Given the description of an element on the screen output the (x, y) to click on. 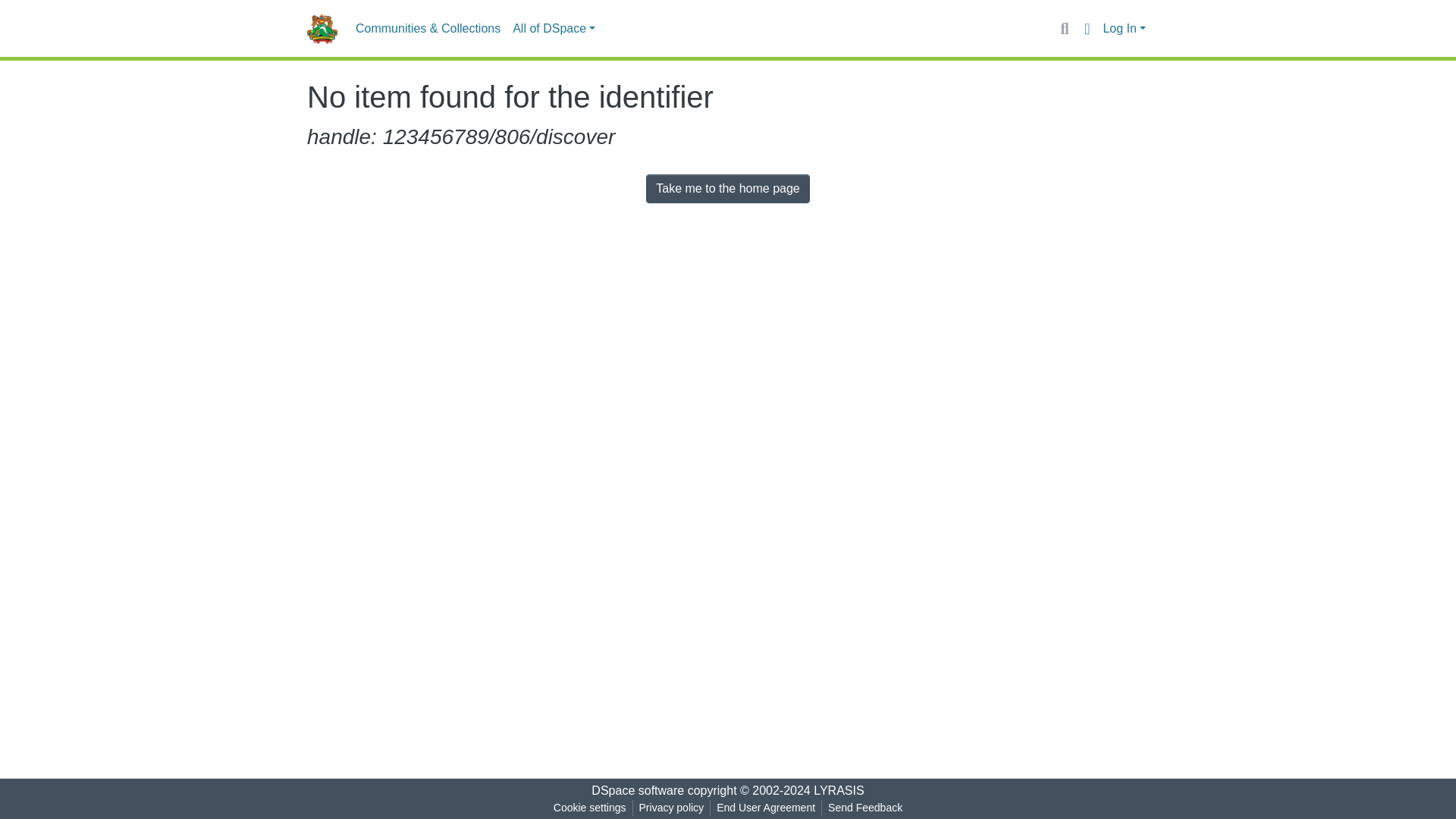
Send Feedback (865, 807)
Take me to the home page (727, 188)
End User Agreement (765, 807)
LYRASIS (838, 789)
DSpace software (637, 789)
Search (1064, 28)
Cookie settings (589, 807)
Privacy policy (671, 807)
Language switch (1086, 28)
All of DSpace (553, 28)
Log In (1123, 28)
